Given the description of an element on the screen output the (x, y) to click on. 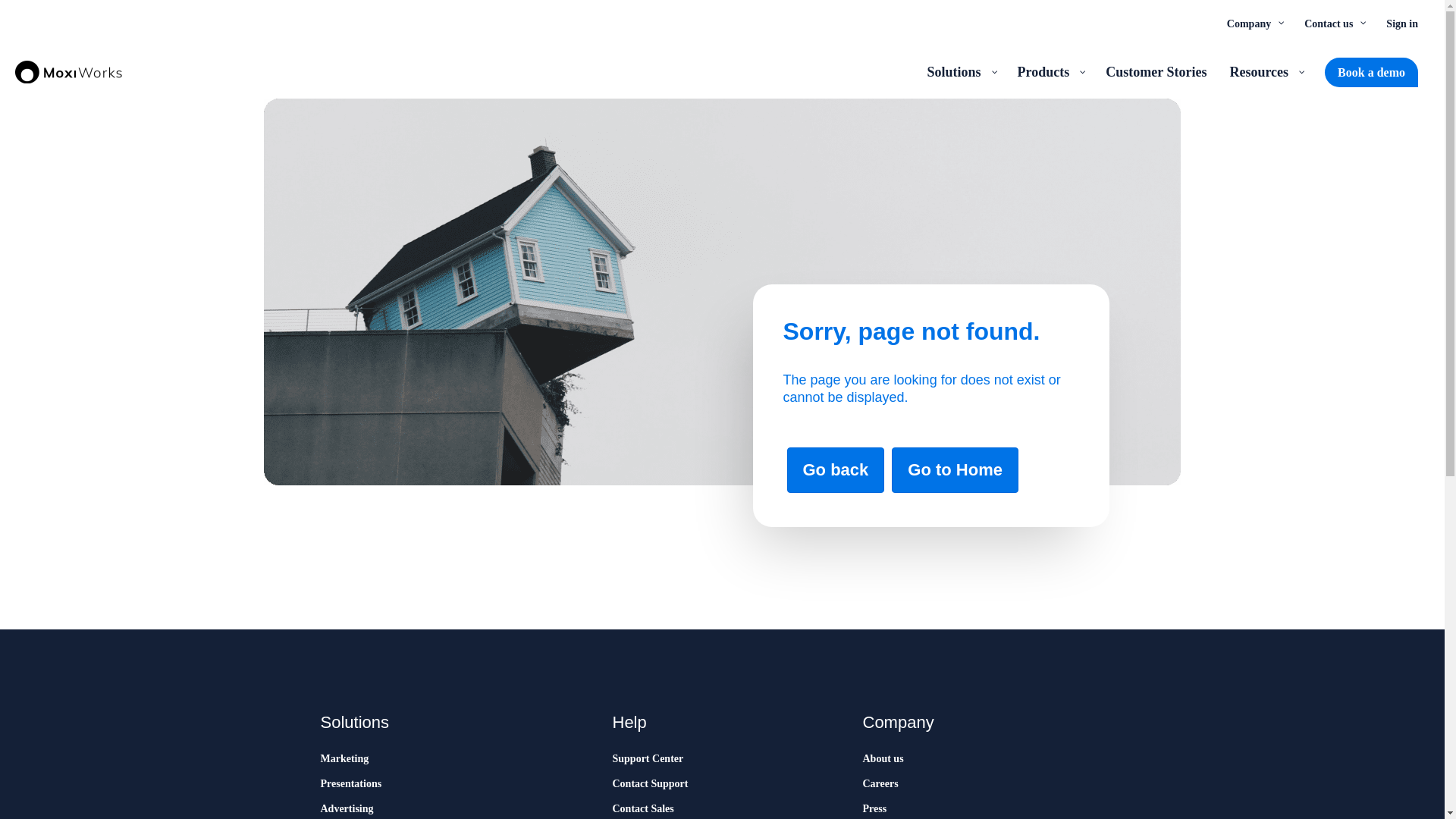
Company (1253, 22)
Contact us (1333, 22)
Sign in (1401, 22)
Solutions (960, 72)
Products (1050, 72)
